Given the description of an element on the screen output the (x, y) to click on. 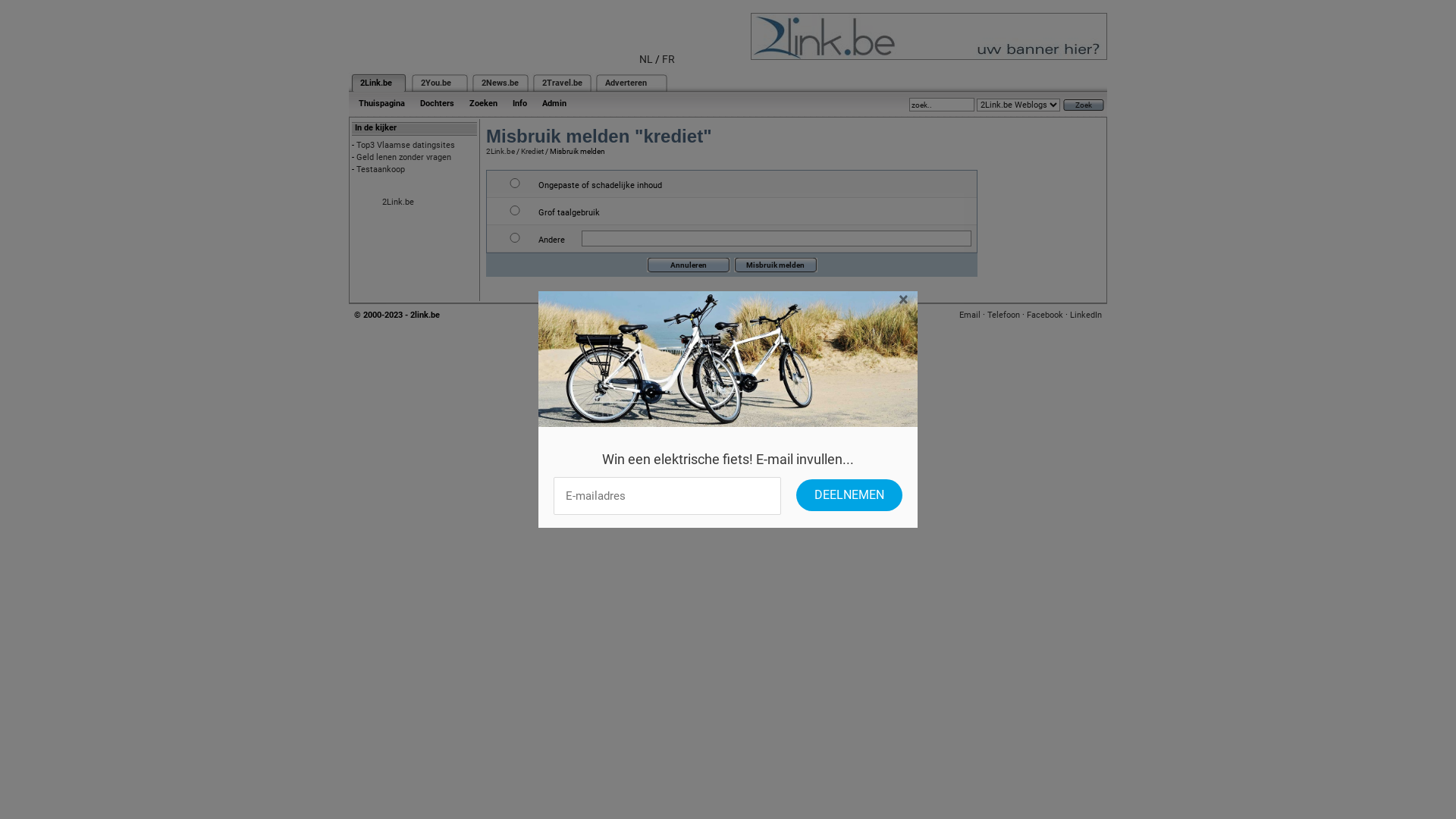
2You.be Element type: text (435, 82)
Zoek Element type: text (1083, 103)
Facebook Element type: text (1044, 315)
Telefoon Element type: text (1003, 315)
LinkedIn Element type: text (1085, 315)
Adverteren Element type: text (625, 82)
FR Element type: text (668, 59)
NL Element type: text (645, 59)
2Link.be Element type: text (398, 202)
Email Element type: text (969, 315)
2Travel.be Element type: text (562, 82)
Thuispagina Element type: text (381, 103)
Zoeken Element type: text (483, 103)
Krediet Element type: text (531, 151)
Dochters Element type: text (436, 103)
2Link.be Element type: text (376, 82)
Admin Element type: text (554, 103)
2Link.be Element type: text (500, 151)
Testaankoop Element type: text (380, 169)
Top3 Vlaamse datingsites Element type: text (405, 145)
2News.be Element type: text (499, 82)
Geld lenen zonder vragen Element type: text (403, 157)
Misbruik melden Element type: text (775, 264)
Info Element type: text (519, 103)
